Given the description of an element on the screen output the (x, y) to click on. 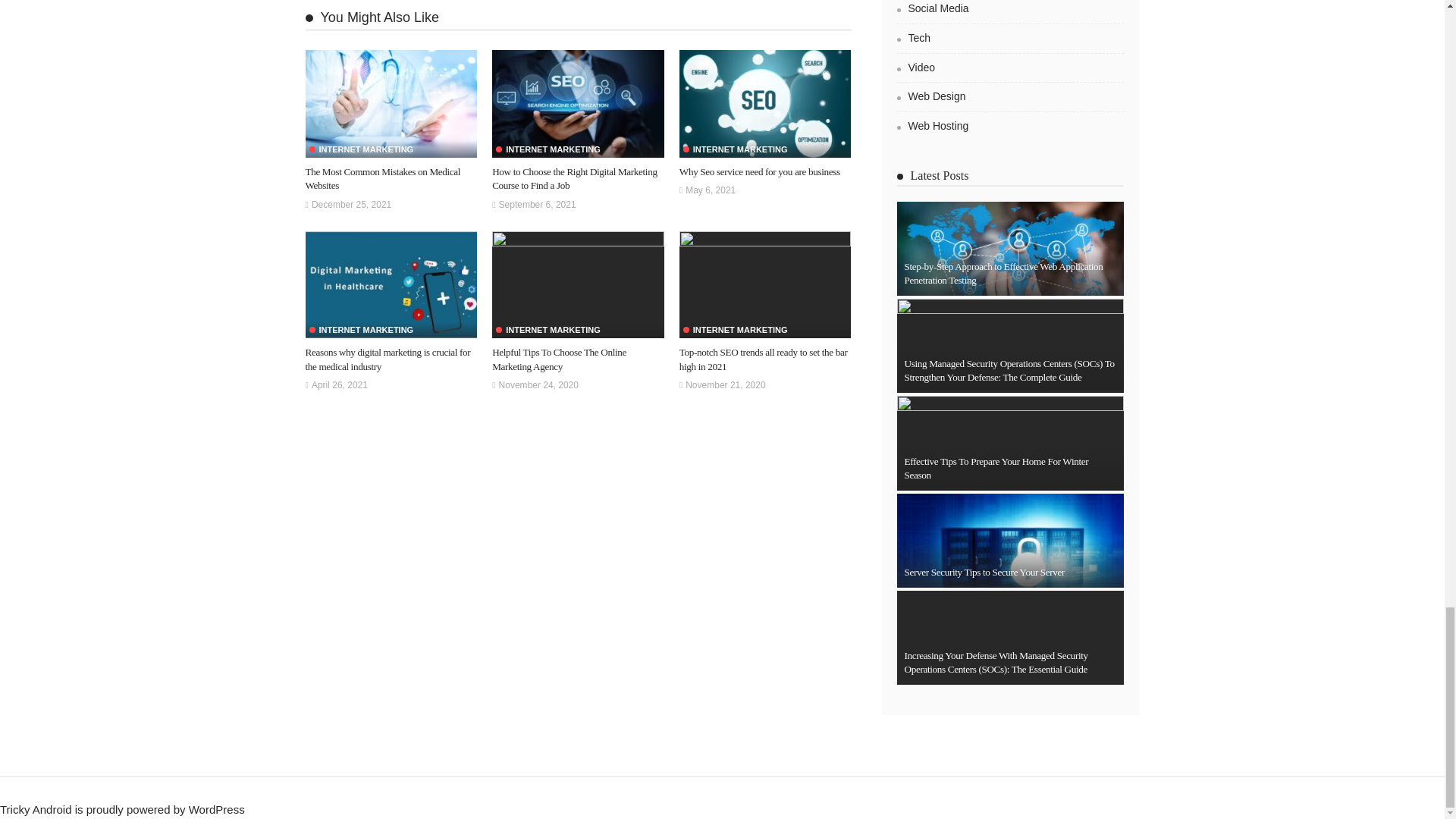
Internet Marketing (547, 149)
Internet Marketing (360, 149)
The Most Common Mistakes on Medical Websites (382, 178)
The Most Common Mistakes on Medical Websites (390, 103)
